Given the description of an element on the screen output the (x, y) to click on. 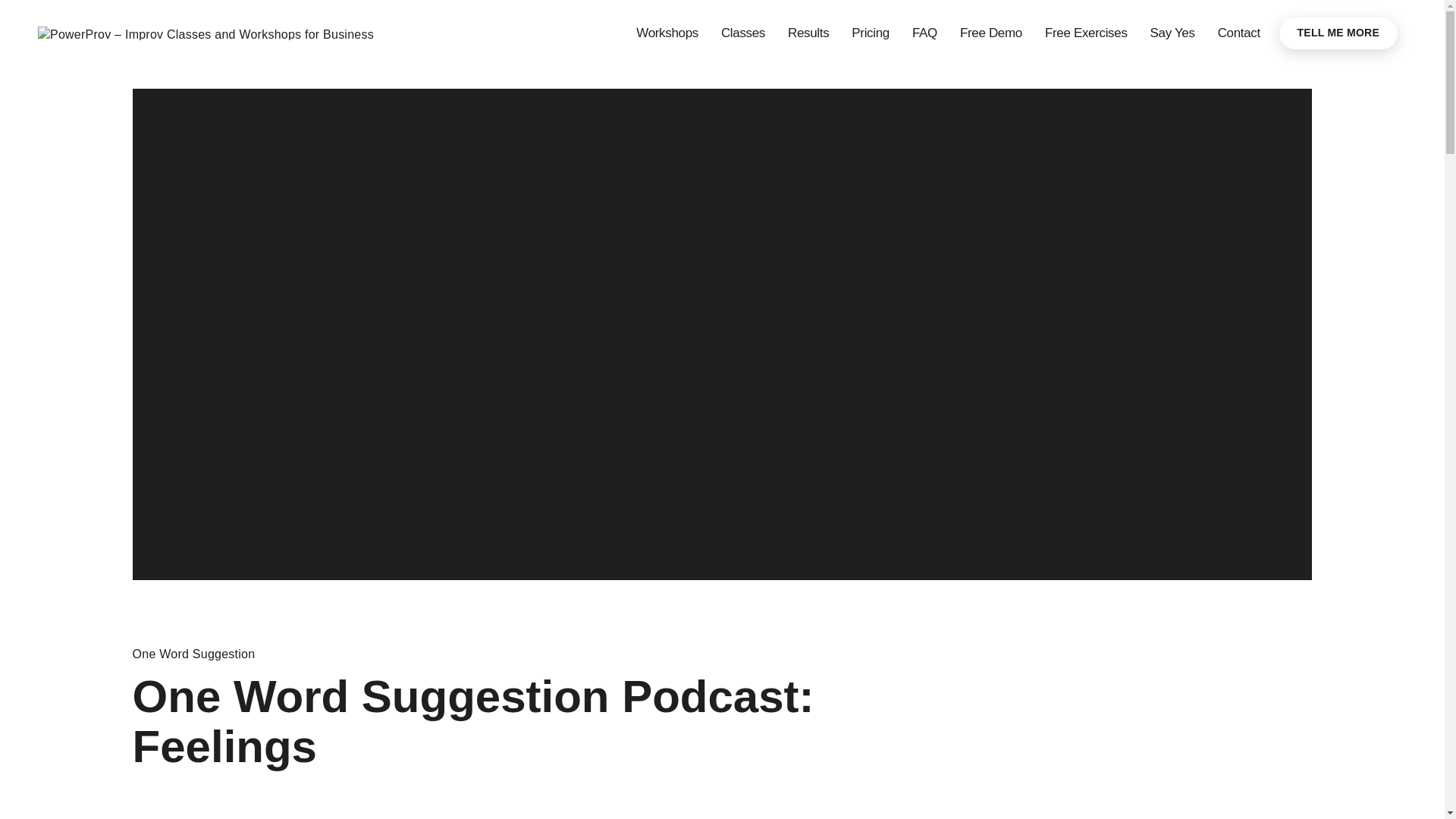
Say Yes (1172, 32)
Contact (1238, 32)
Classes (742, 32)
Free Demo (990, 32)
One Word Suggestion (194, 654)
Free Exercises (1085, 32)
Results (807, 32)
TELL ME MORE (1338, 32)
TELL ME MORE (1338, 32)
Workshops (667, 32)
